Given the description of an element on the screen output the (x, y) to click on. 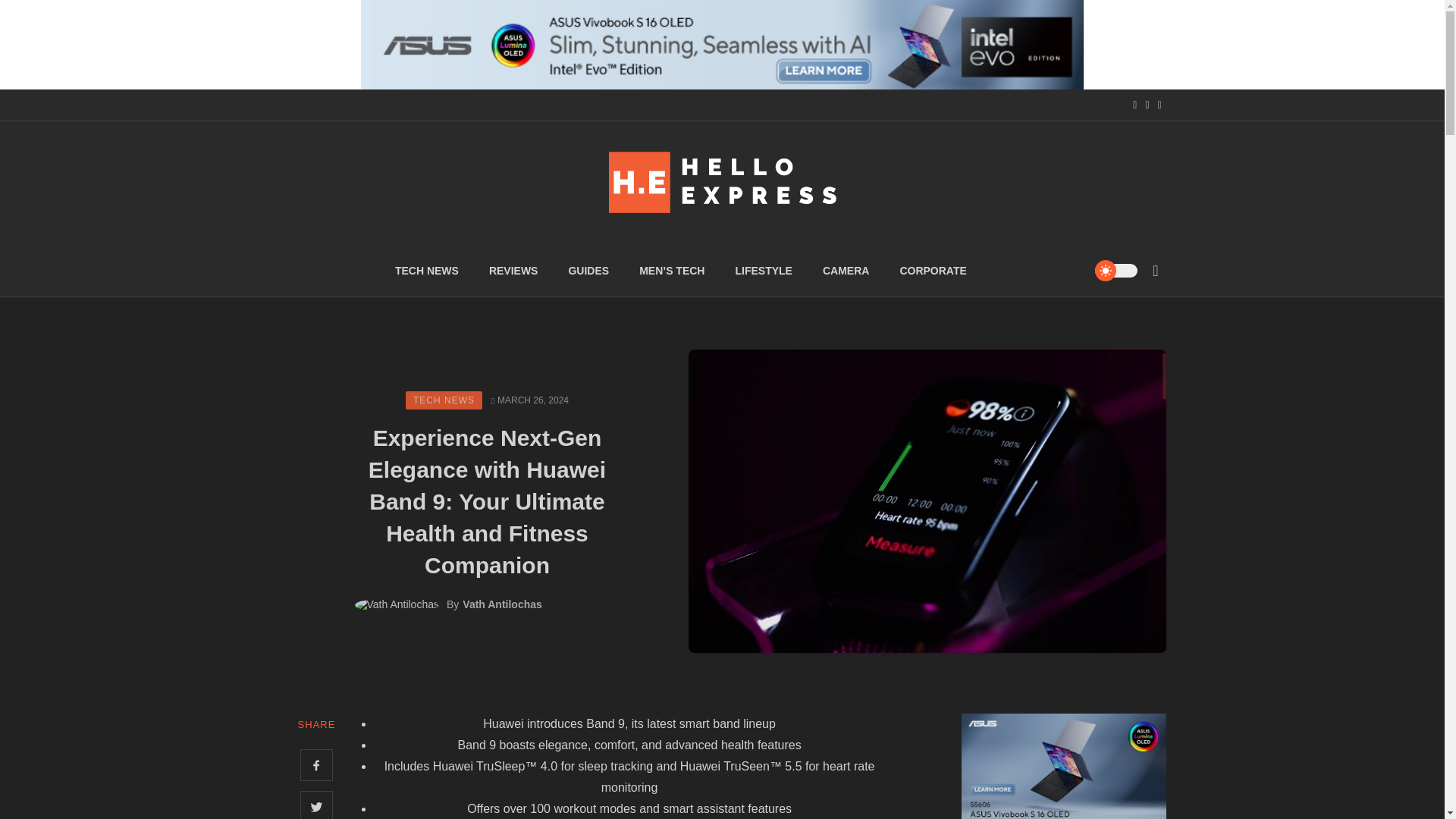
TECH NEWS (443, 400)
LIFESTYLE (762, 270)
TECH NEWS (427, 270)
March 26, 2024 at 8:00 pm (530, 400)
Share on Facebook (316, 765)
CAMERA (845, 270)
Share on Twitter (316, 805)
REVIEWS (513, 270)
GUIDES (588, 270)
CORPORATE (932, 270)
